Given the description of an element on the screen output the (x, y) to click on. 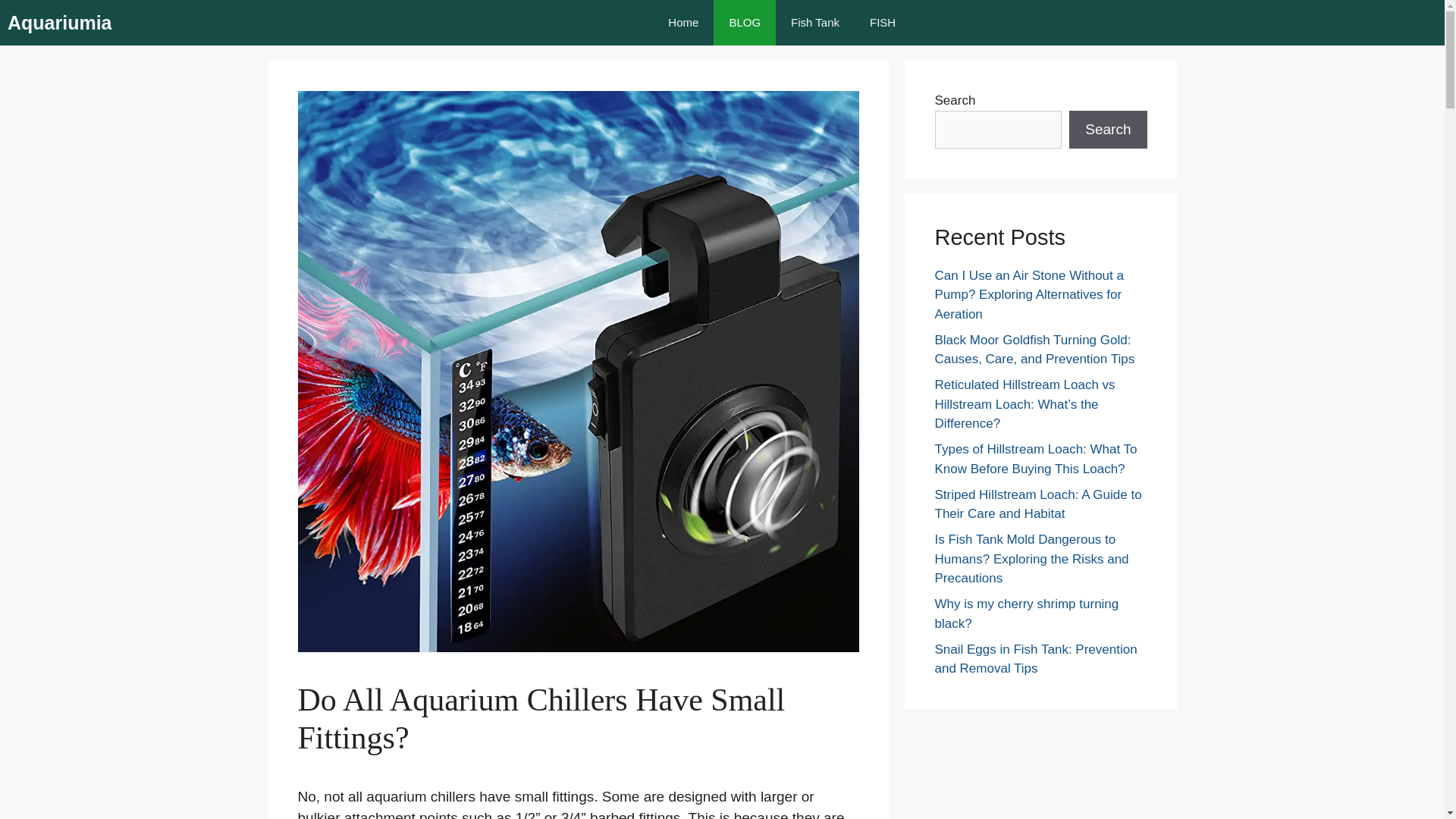
Aquariumia (59, 22)
BLOG (744, 22)
FISH (882, 22)
Snail Eggs in Fish Tank: Prevention and Removal Tips (1035, 659)
Why is my cherry shrimp turning black? (1026, 613)
Home (682, 22)
